Given the description of an element on the screen output the (x, y) to click on. 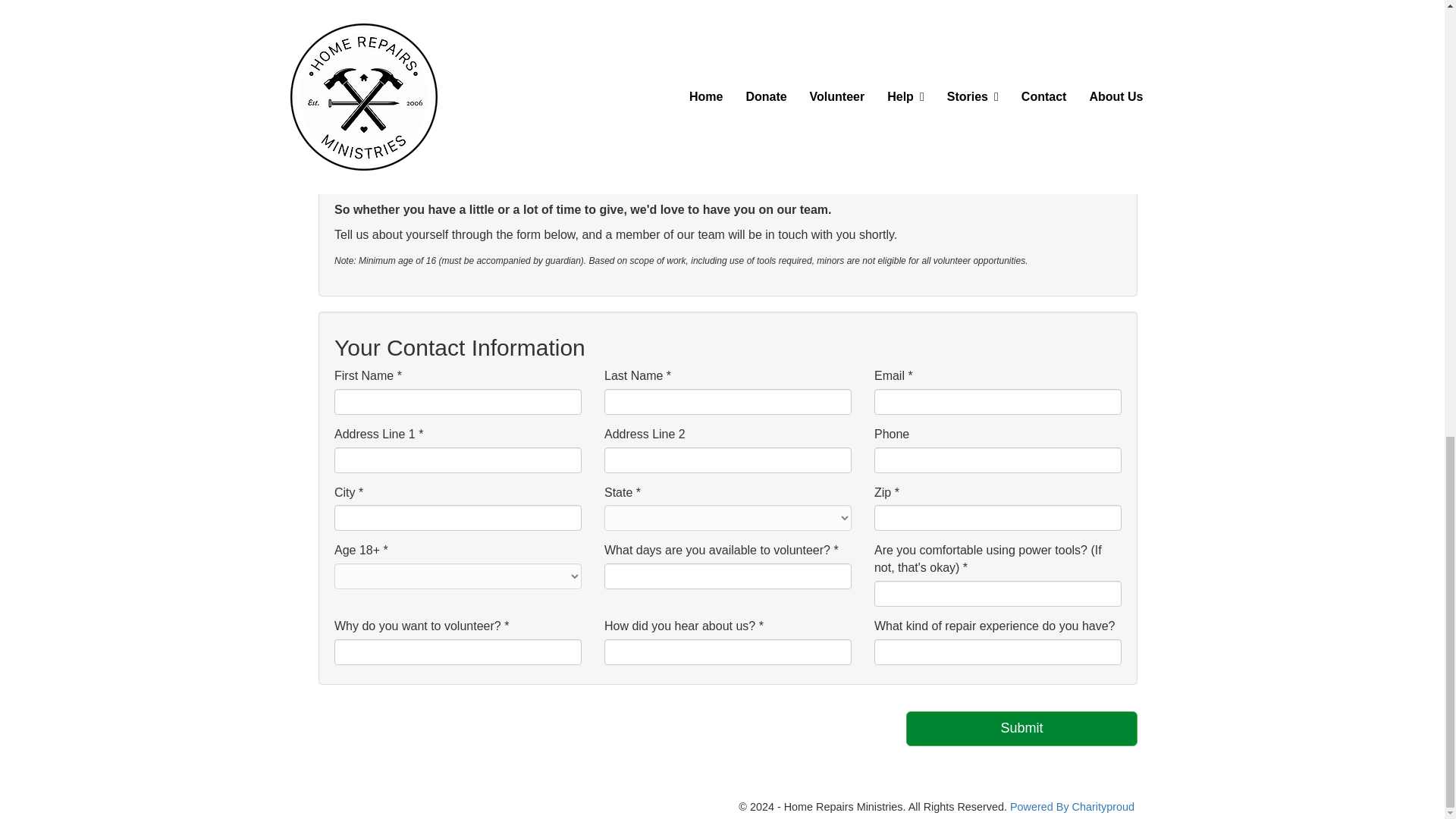
Aaron (774, 82)
Submit (1021, 728)
Powered By Charityproud (1072, 806)
Joe (806, 82)
Bob (845, 82)
